Given the description of an element on the screen output the (x, y) to click on. 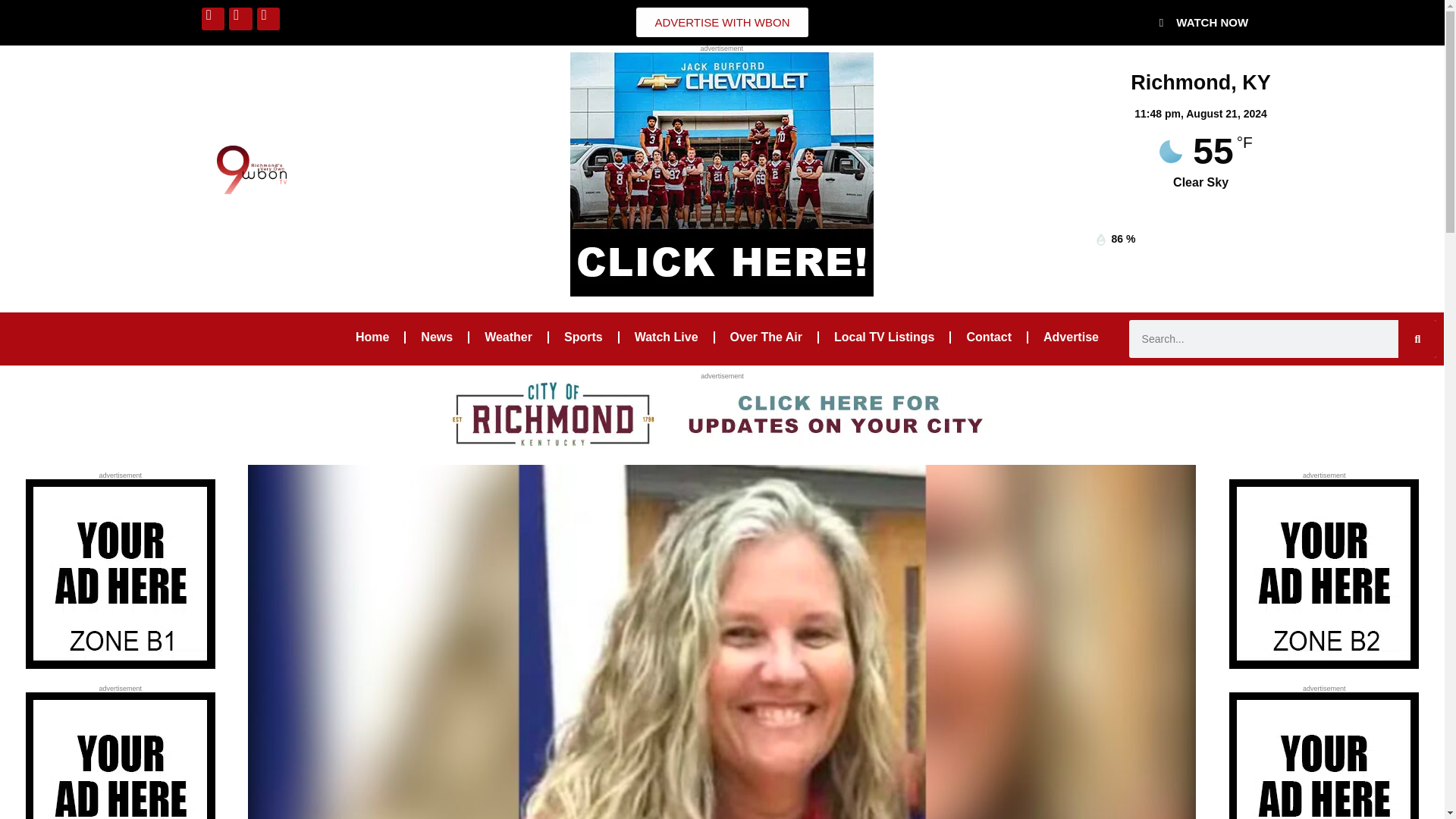
Watch Live (666, 337)
Weather (507, 337)
WATCH NOW (1203, 22)
Sports (582, 337)
ADVERTISE WITH WBON (722, 21)
Contact (988, 337)
Home (372, 337)
News (436, 337)
Local TV Listings (883, 337)
Advertise (1070, 337)
